Given the description of an element on the screen output the (x, y) to click on. 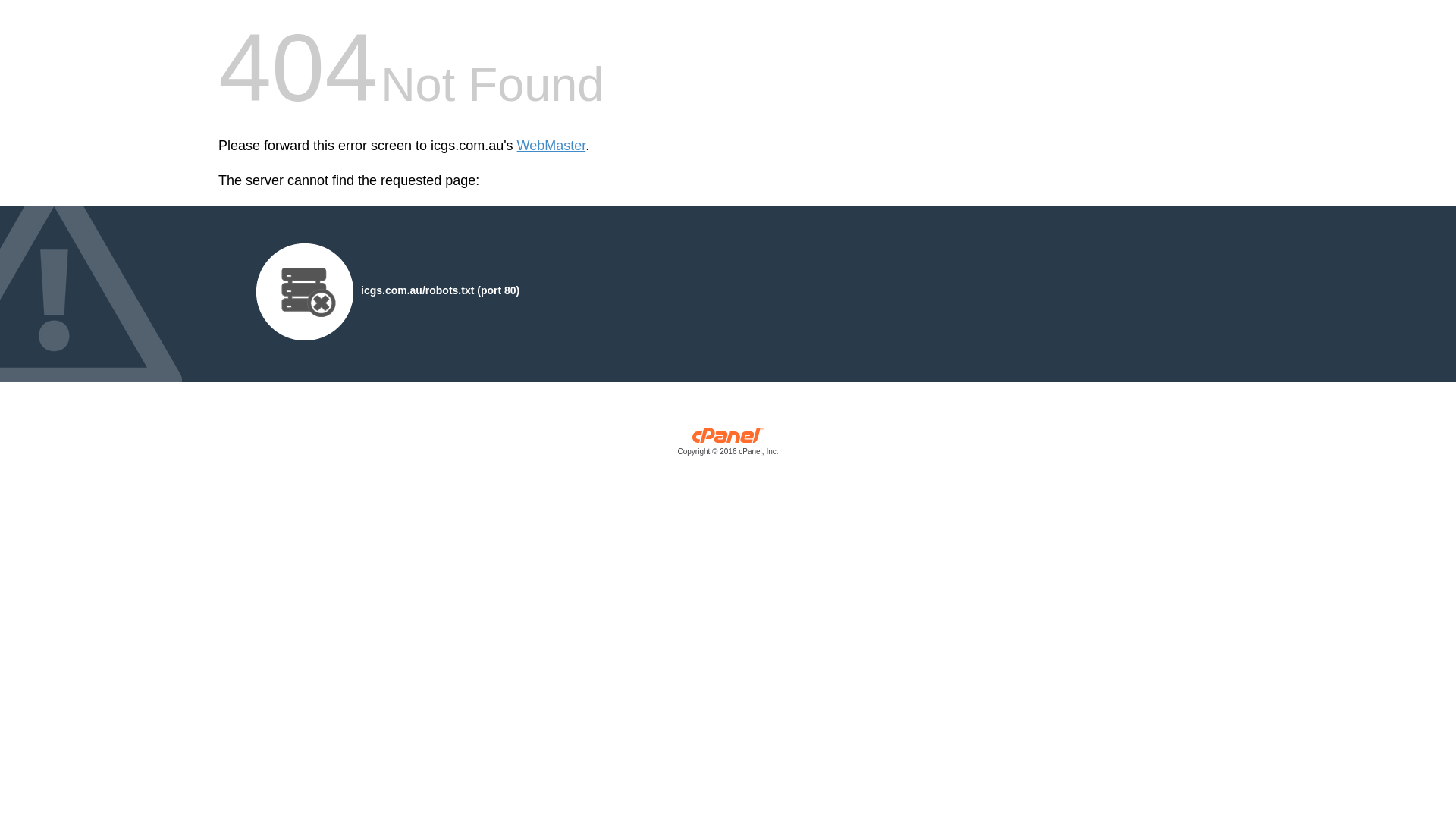
WebMaster Element type: text (551, 145)
